Given the description of an element on the screen output the (x, y) to click on. 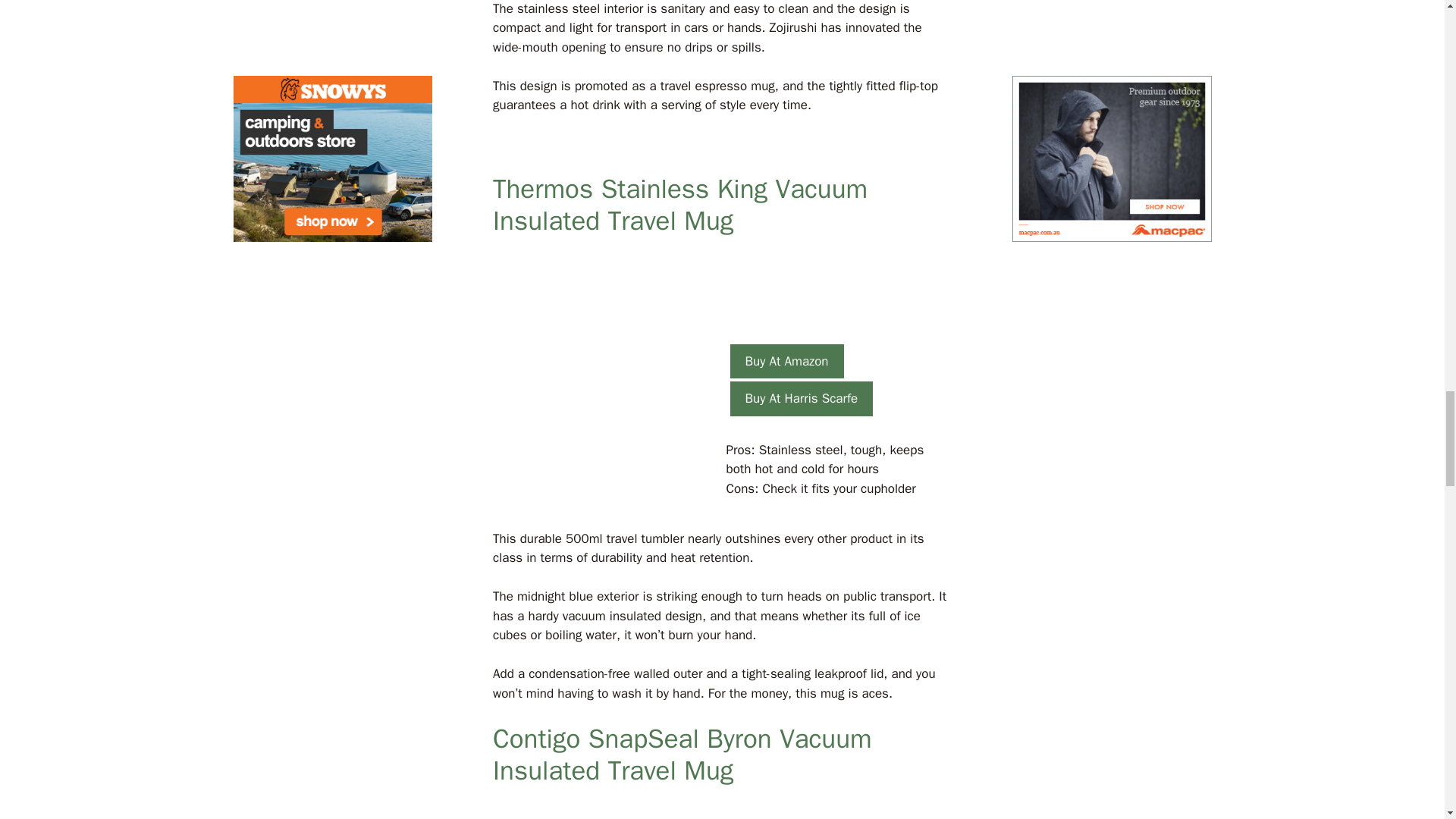
Thermos Stainless King Vacuum Insulated Travel Mug (680, 204)
Contigo SnapSeal Byron Vacuum Insulated Travel Mug (682, 754)
Buy At Harris Scarfe (800, 398)
Buy At Amazon (786, 361)
